Given the description of an element on the screen output the (x, y) to click on. 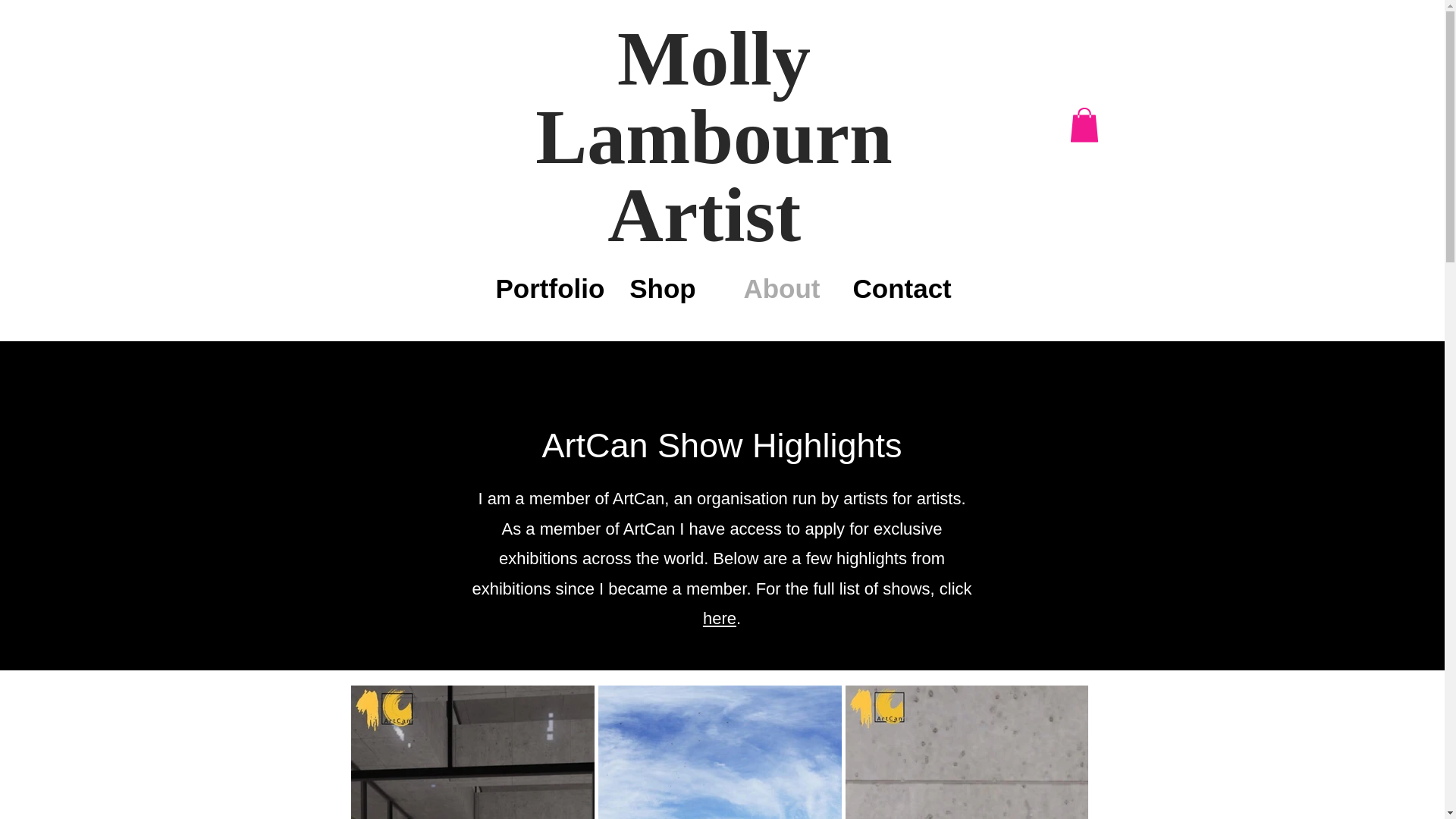
Contact (900, 288)
About (781, 288)
Portfolio (542, 288)
here (719, 618)
Shop (663, 288)
